Given the description of an element on the screen output the (x, y) to click on. 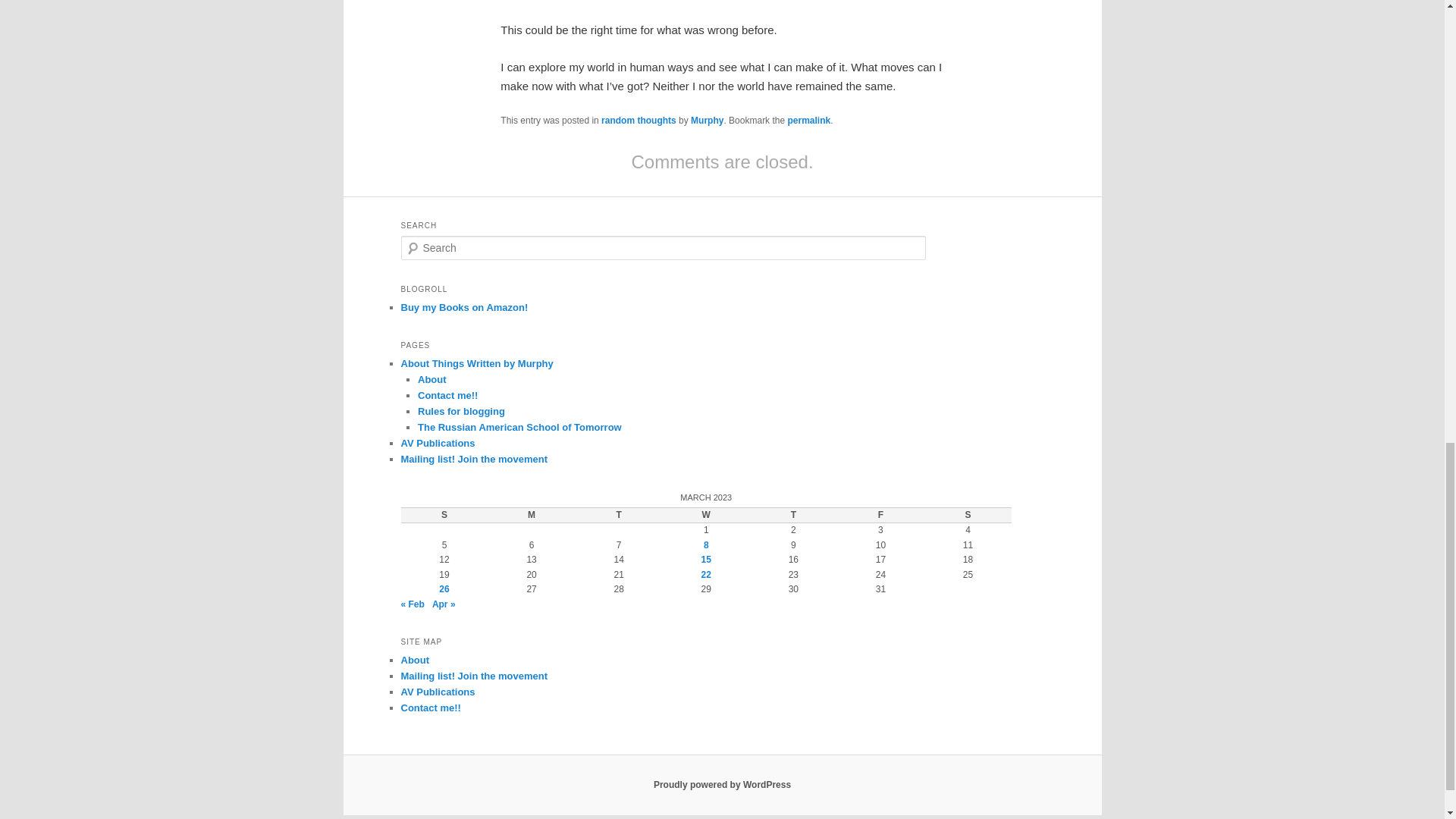
8 (706, 544)
Permalink to niether remain the same (808, 120)
22 (706, 574)
Thursday (793, 515)
15 (706, 559)
Saturday (967, 515)
Monday (531, 515)
Tuesday (618, 515)
Murphy (706, 120)
random thoughts (639, 120)
Mailing list! Join the movement (473, 459)
Proudly powered by WordPress (721, 784)
permalink (808, 120)
Semantic Personal Publishing Platform (721, 784)
Contact me!! (447, 395)
